Given the description of an element on the screen output the (x, y) to click on. 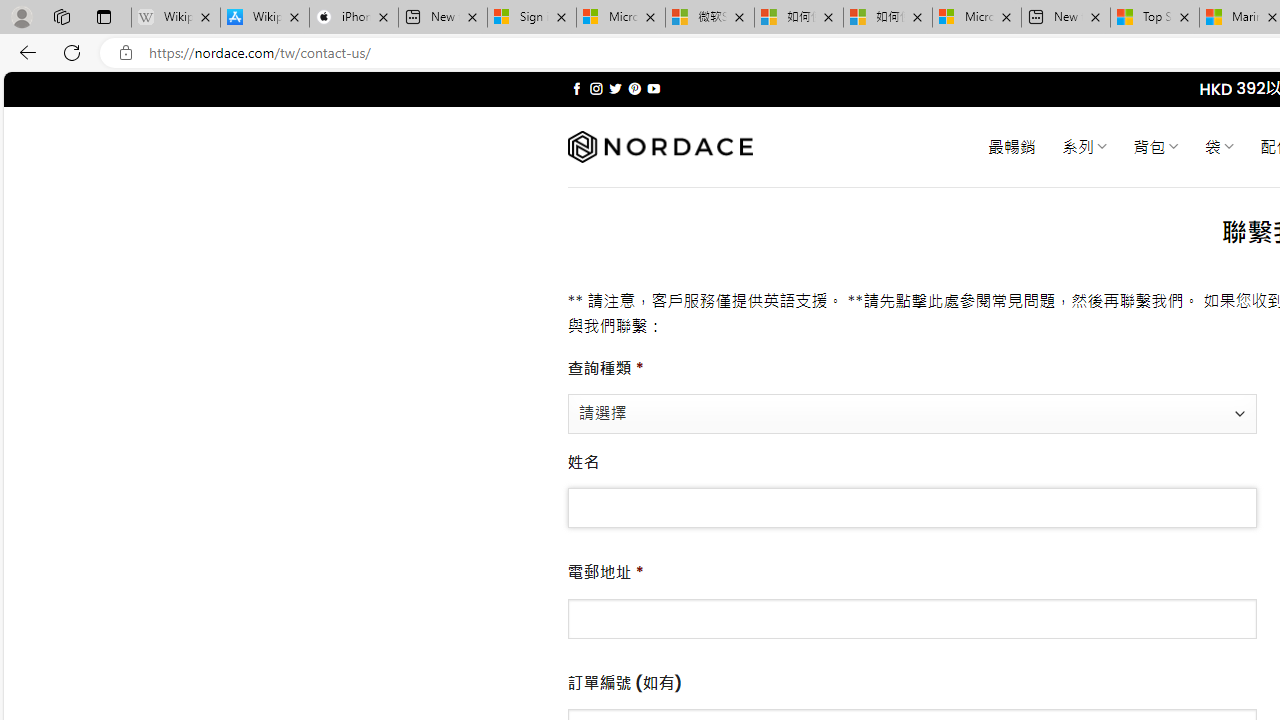
Microsoft Services Agreement (621, 17)
Nordace (659, 147)
Follow on Twitter (615, 88)
Nordace (659, 147)
Top Stories - MSN (1155, 17)
Wikipedia - Sleeping (175, 17)
